Given the description of an element on the screen output the (x, y) to click on. 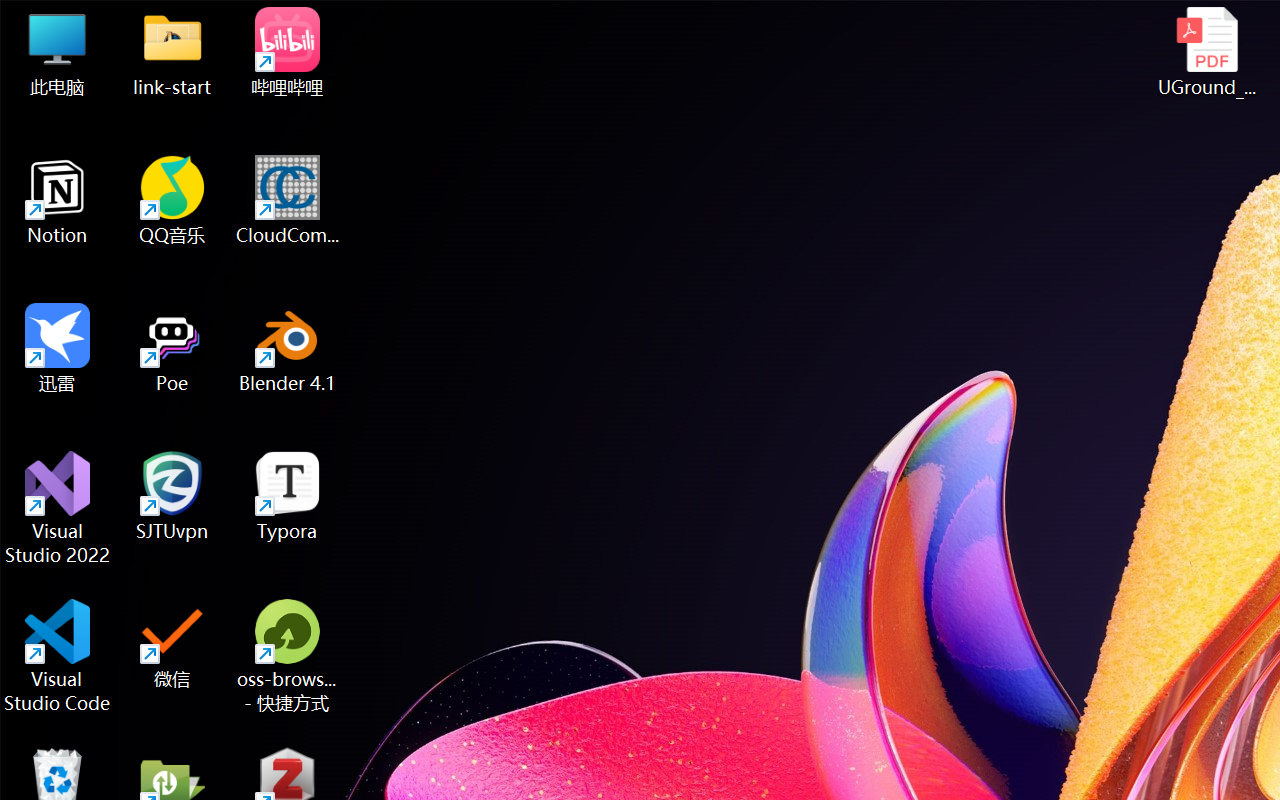
Typora (287, 496)
Blender 4.1 (287, 348)
Visual Studio 2022 (57, 508)
UGround_paper.pdf (1206, 52)
Visual Studio Code (57, 656)
SJTUvpn (172, 496)
CloudCompare (287, 200)
